Given the description of an element on the screen output the (x, y) to click on. 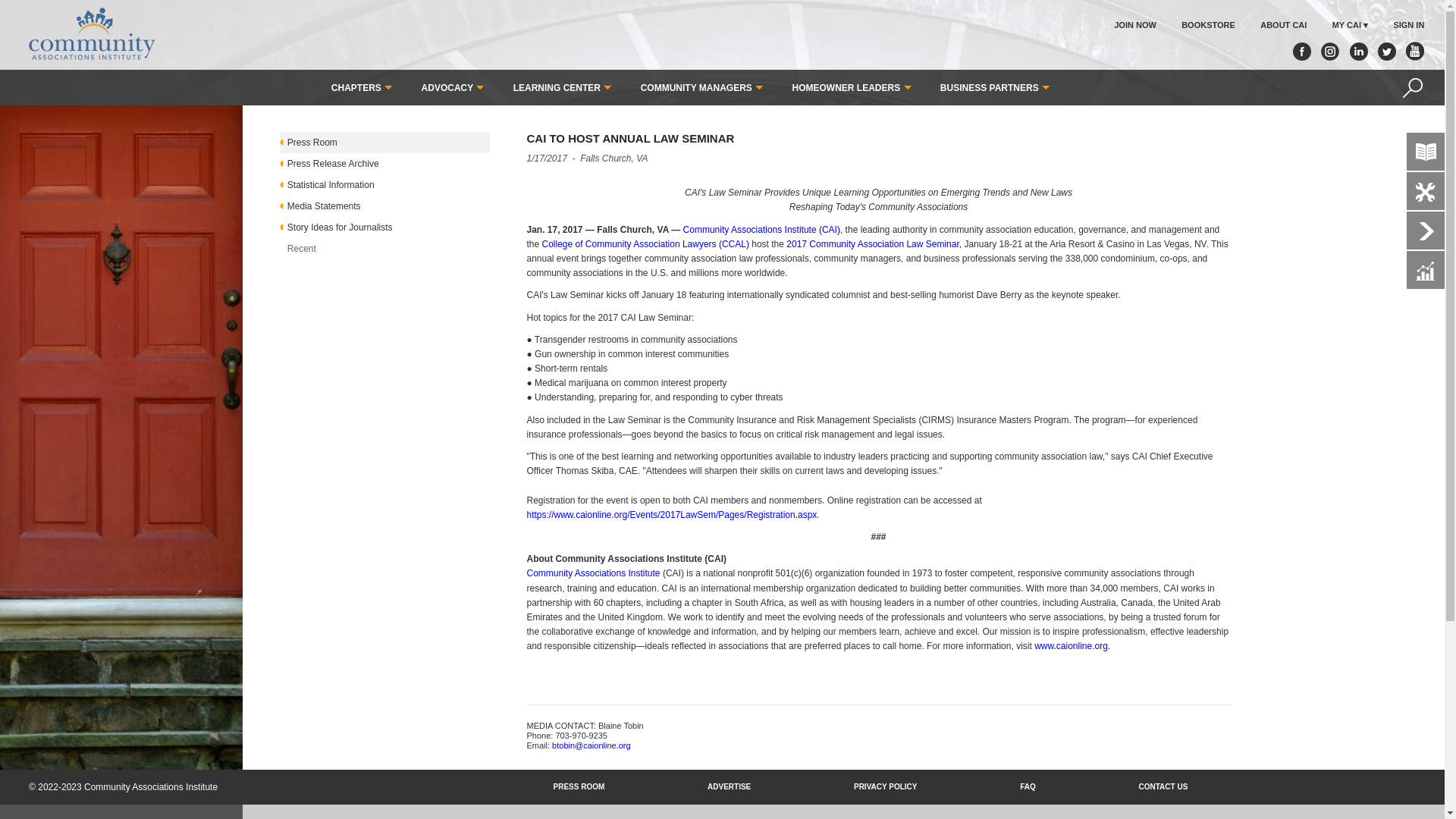
BOOKSTORE (1207, 24)
JOIN NOW (1134, 24)
SIGN IN (1408, 25)
CHAPTERS (362, 87)
ADVOCACY (453, 87)
ABOUT CAI (1283, 24)
